Given the description of an element on the screen output the (x, y) to click on. 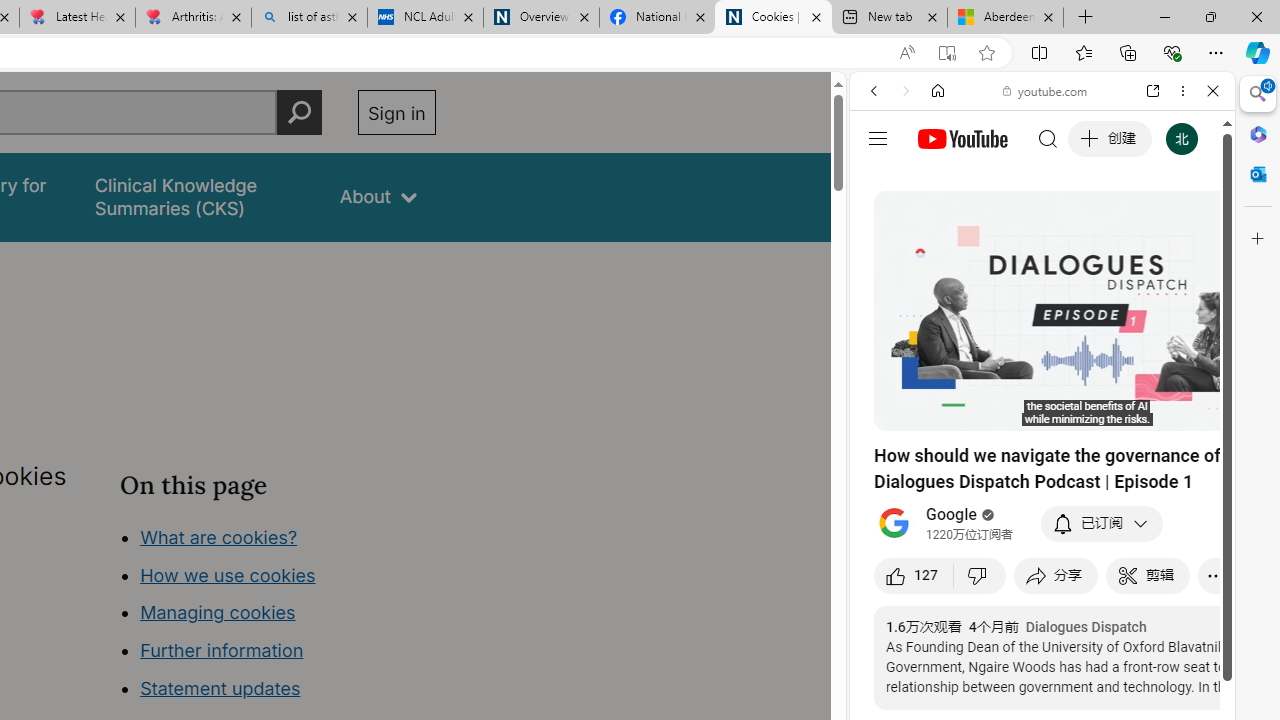
Further information (221, 650)
Show More Music (1164, 546)
